Given the description of an element on the screen output the (x, y) to click on. 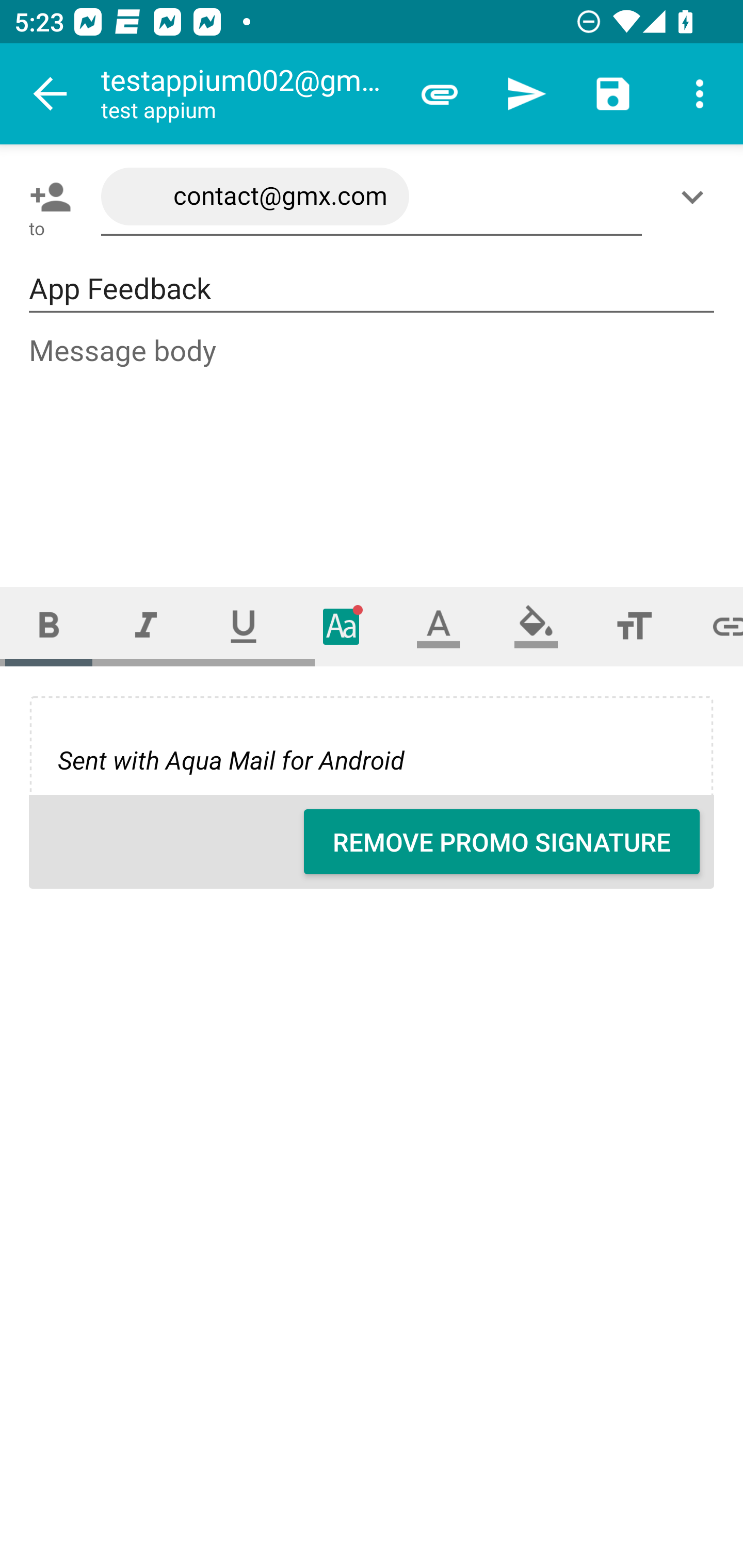
Navigate up (50, 93)
testappium002@gmail.com test appium (248, 93)
Attach (439, 93)
Send (525, 93)
Save (612, 93)
More options (699, 93)
contact@gmx.com,  (371, 197)
Pick contact: To (46, 196)
Show/Add CC/BCC (696, 196)
App Feedback (371, 288)
Message body (372, 442)
Bold (48, 626)
Italic (145, 626)
Underline (243, 626)
Typeface (font) (341, 626)
Text color (438, 626)
Fill color (536, 626)
Font size (633, 626)
Set link (712, 626)
REMOVE PROMO SIGNATURE (501, 841)
